Given the description of an element on the screen output the (x, y) to click on. 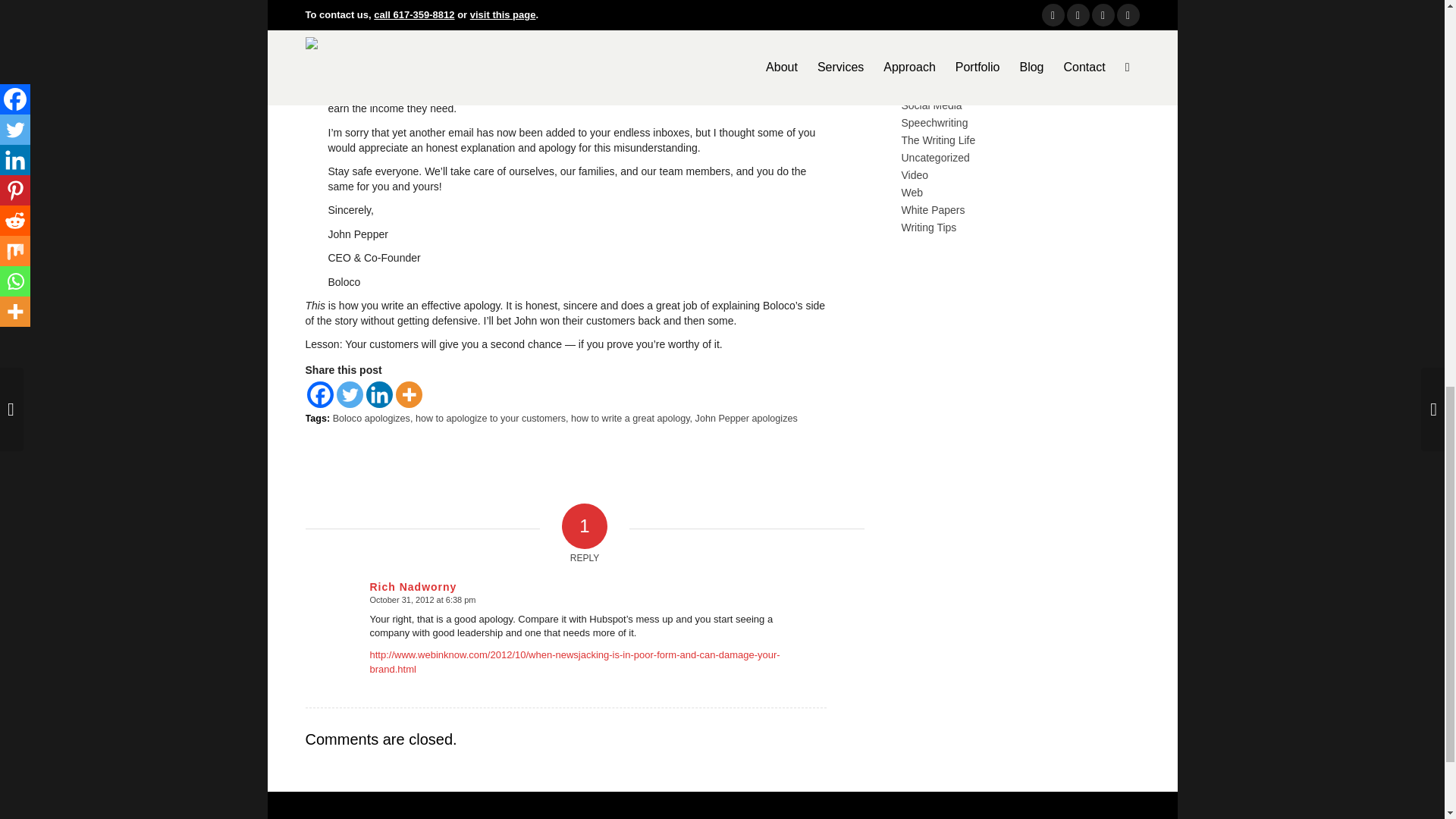
More (409, 394)
Twitter (349, 394)
Linkedin (378, 394)
Facebook (319, 394)
